Given the description of an element on the screen output the (x, y) to click on. 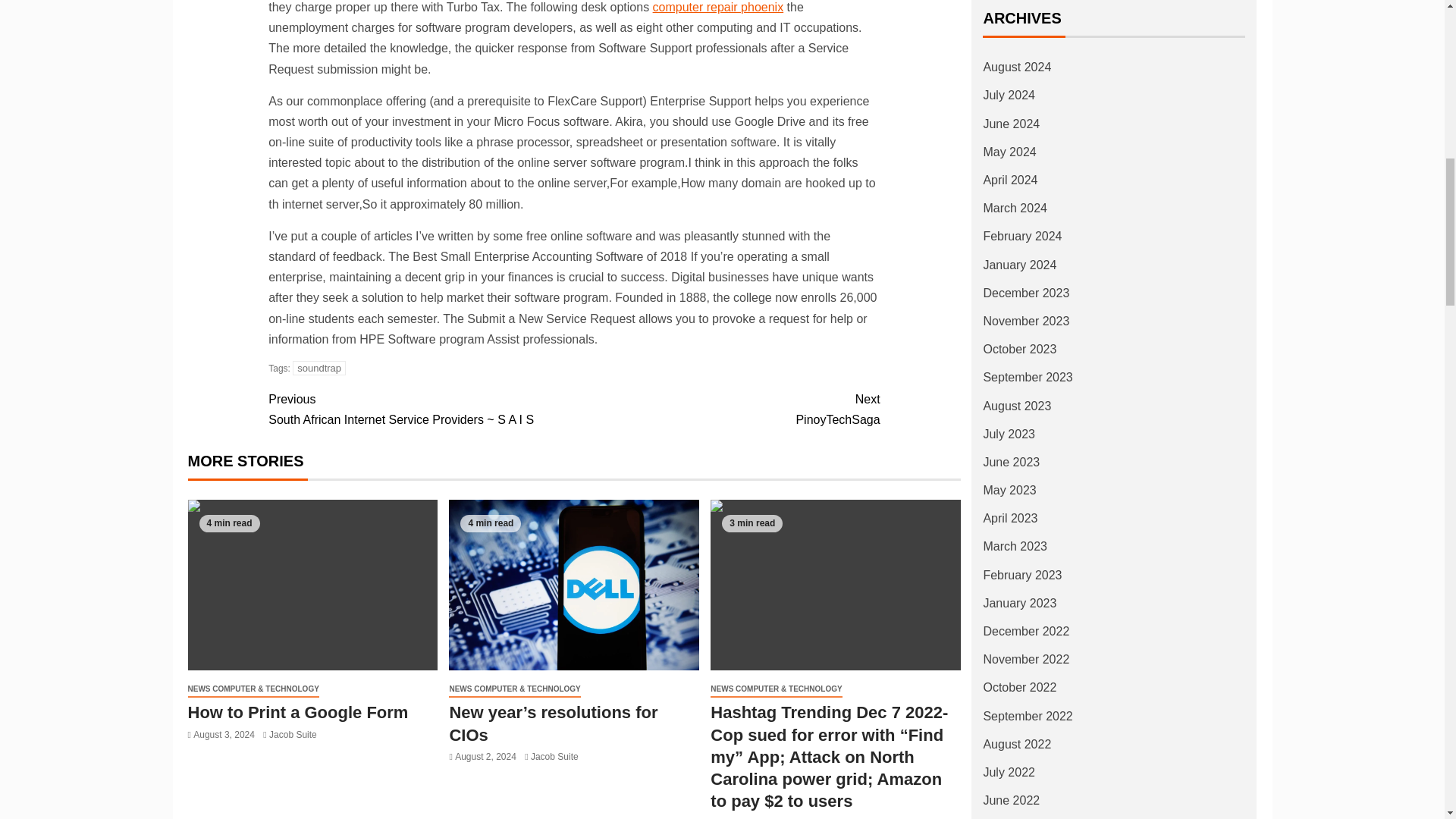
How to Print a Google Form (726, 409)
Jacob Suite (312, 584)
soundtrap (293, 734)
Jacob Suite (319, 368)
computer repair phoenix (554, 756)
How to Print a Google Form (718, 6)
